Given the description of an element on the screen output the (x, y) to click on. 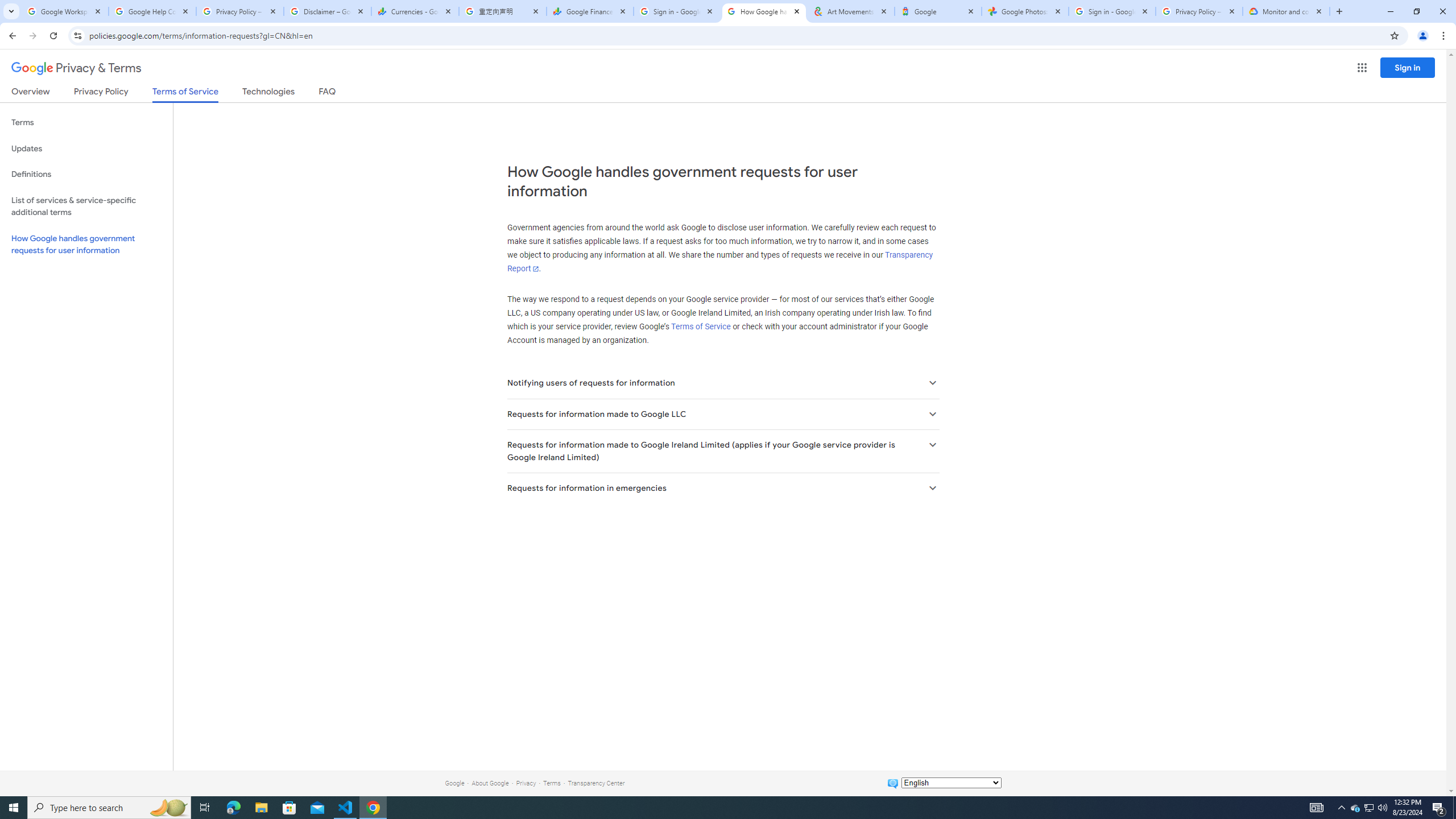
Currencies - Google Finance (415, 11)
Notifying users of requests for information (722, 382)
Requests for information made to Google LLC (722, 413)
About Google (490, 783)
